Given the description of an element on the screen output the (x, y) to click on. 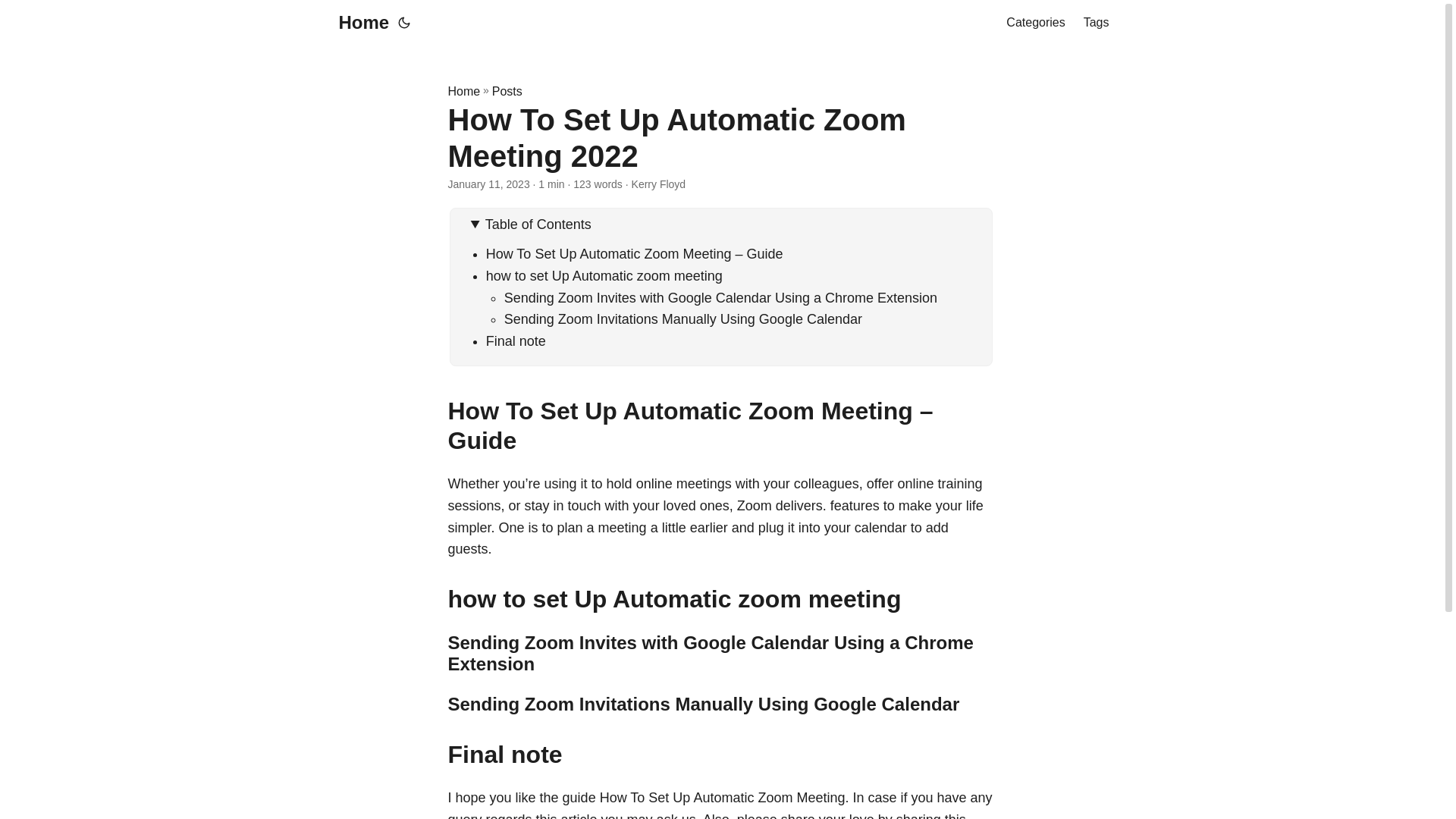
Posts (507, 91)
Home (359, 22)
Home (463, 91)
Categories (1035, 22)
how to set Up Automatic zoom meeting (604, 275)
Sending Zoom Invitations Manually Using Google Calendar (682, 319)
Categories (1035, 22)
Final note (516, 340)
